Given the description of an element on the screen output the (x, y) to click on. 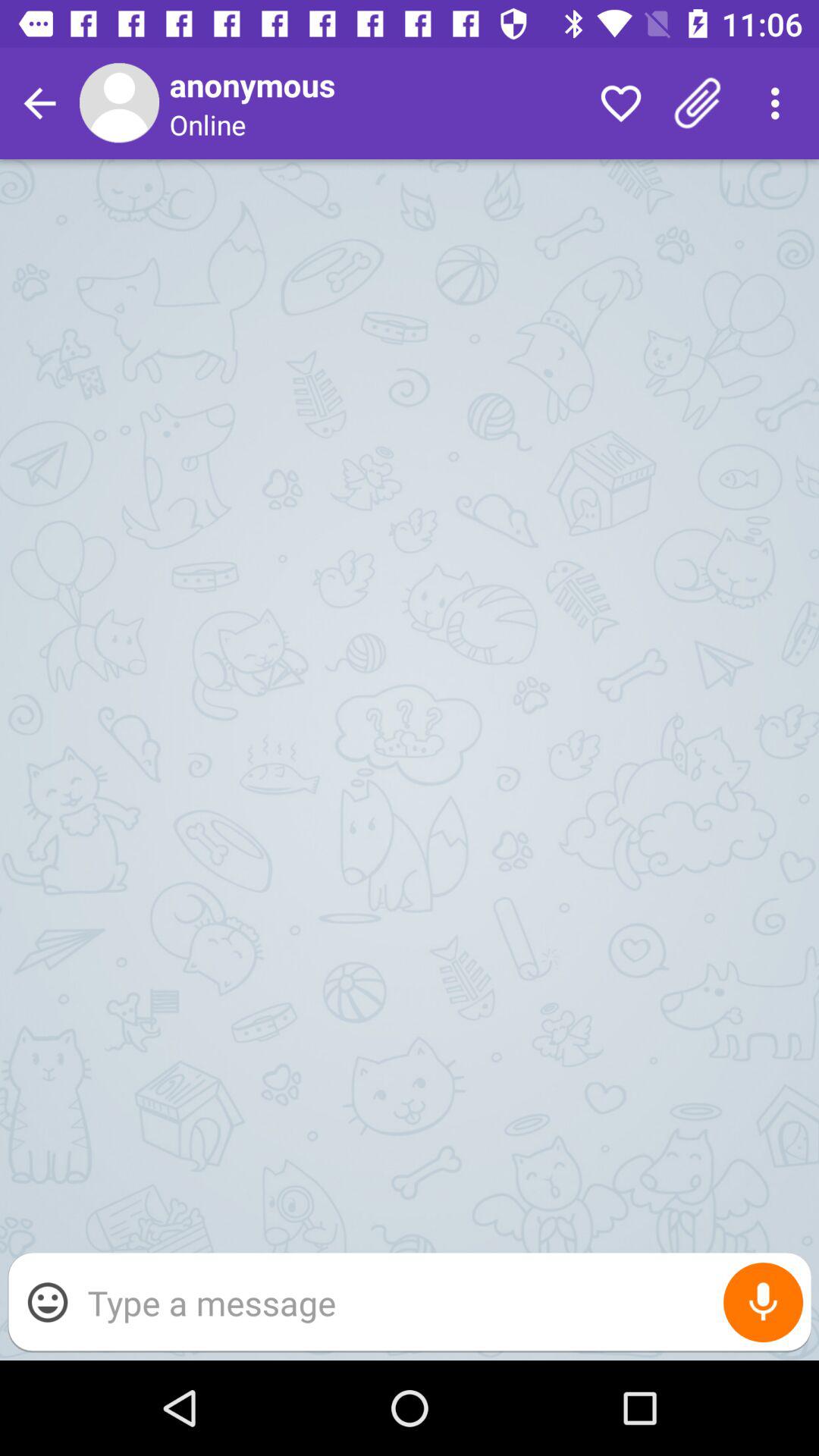
start chat (441, 1302)
